Given the description of an element on the screen output the (x, y) to click on. 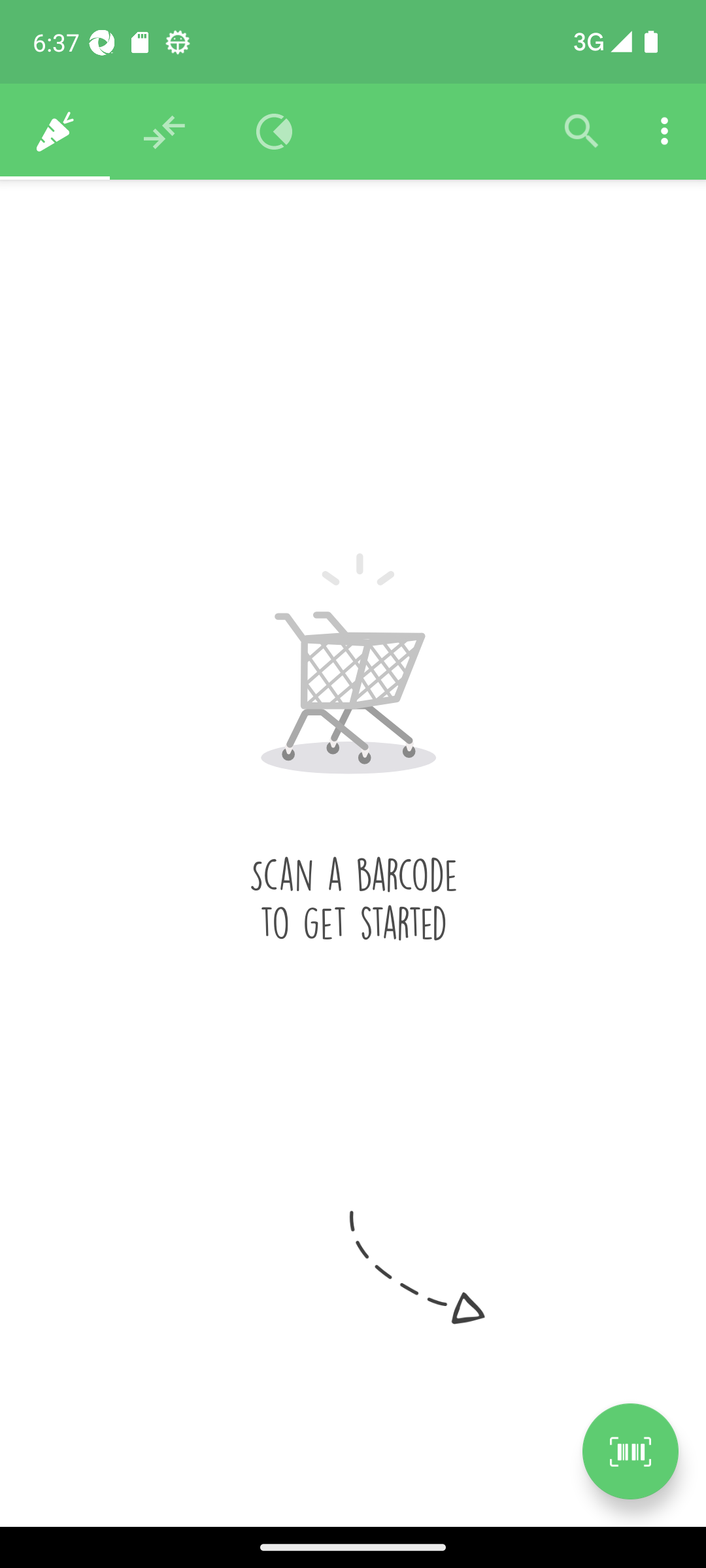
Recommendations (164, 131)
Overview (274, 131)
Filter (581, 131)
Settings (664, 131)
Scan a product (630, 1451)
